Given the description of an element on the screen output the (x, y) to click on. 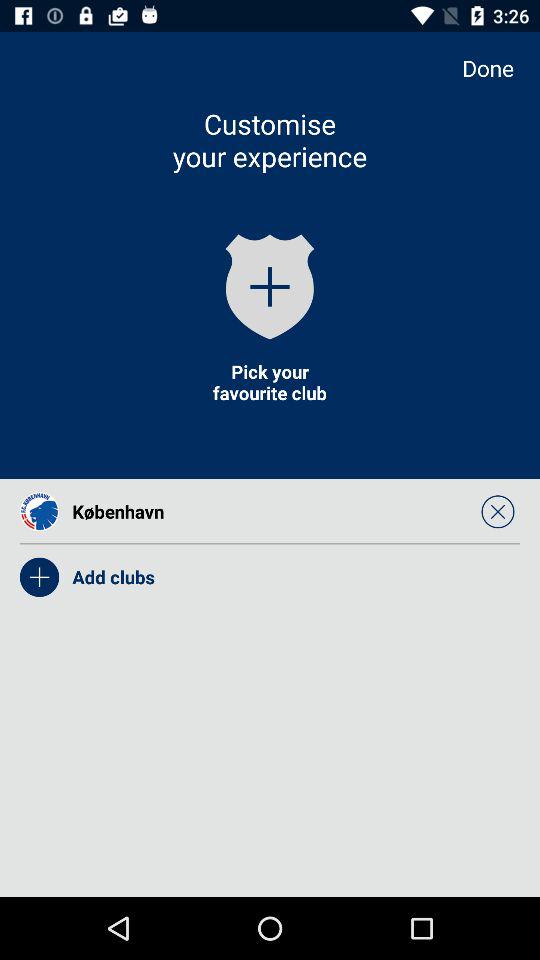
swipe to pick your favourite icon (269, 382)
